Given the description of an element on the screen output the (x, y) to click on. 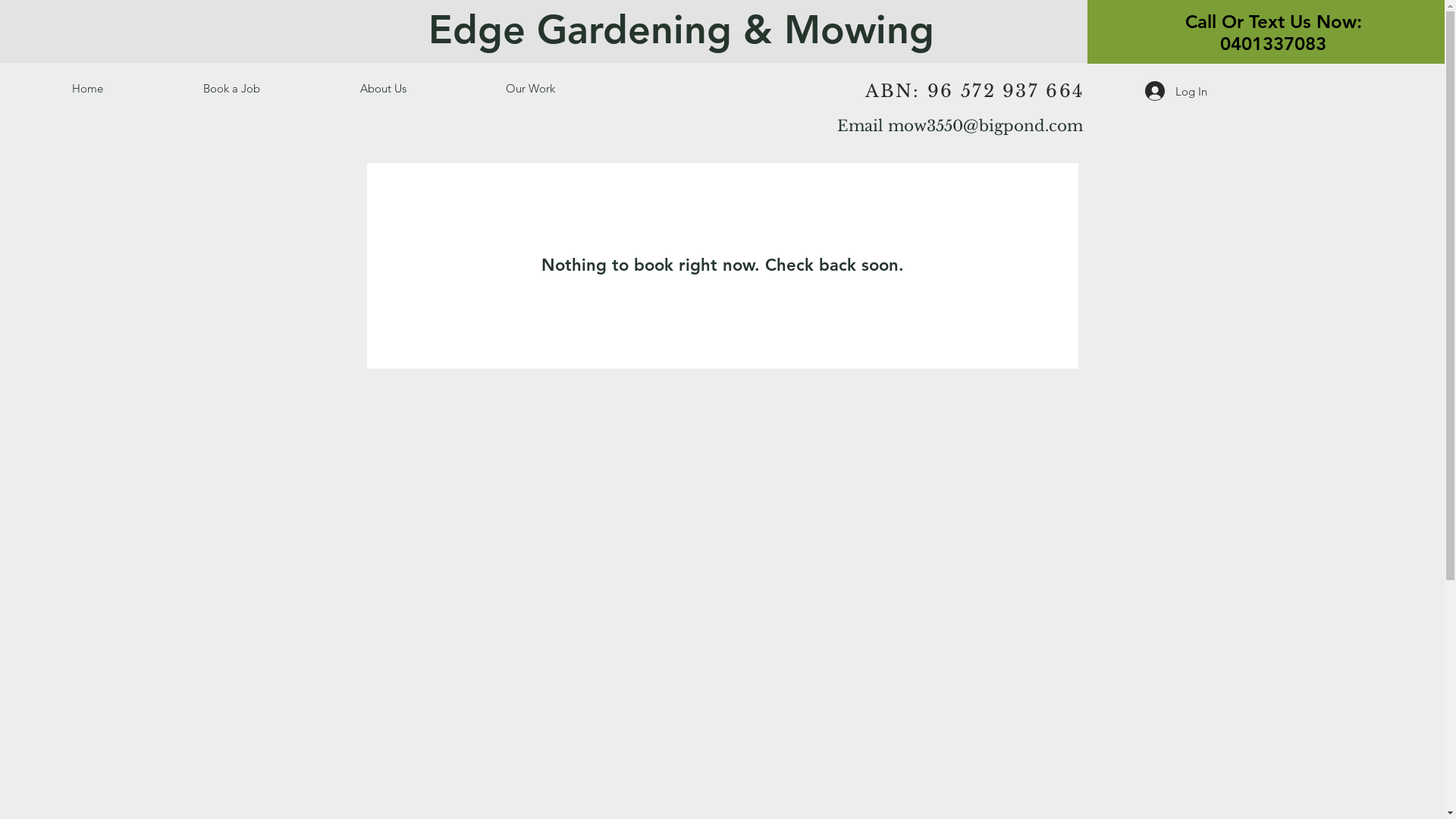
Book a Job Element type: text (269, 88)
Our Work Element type: text (568, 88)
Log In Element type: text (1175, 90)
mow3550@bigpond.com Element type: text (984, 125)
Home Element type: text (125, 88)
About Us Element type: text (421, 88)
